Given the description of an element on the screen output the (x, y) to click on. 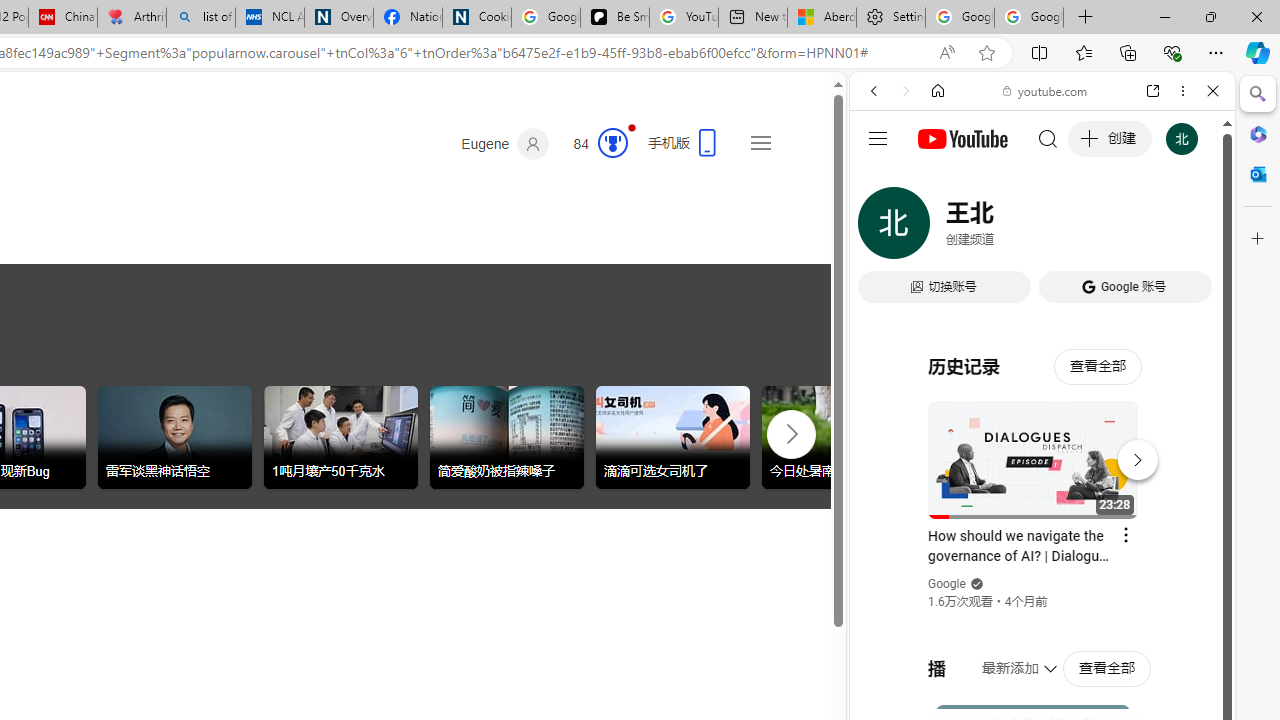
#you (1042, 445)
AutomationID: tob_right_arrow (791, 433)
Click to scroll right (790, 432)
Music (1042, 543)
VIDEOS (1006, 228)
Search videos from youtube.com (1005, 657)
